Given the description of an element on the screen output the (x, y) to click on. 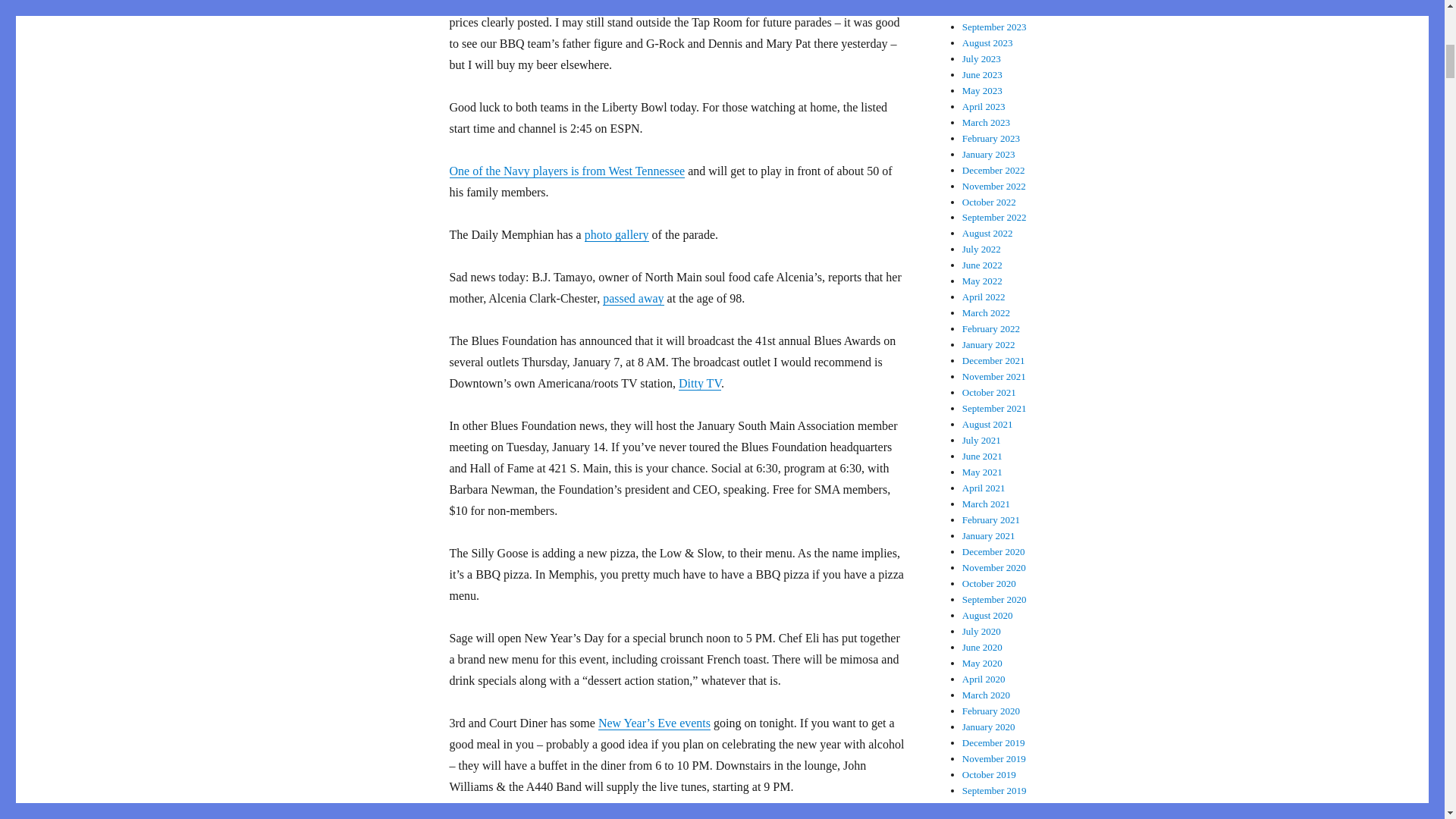
photo gallery (617, 234)
Ditty TV (699, 382)
passed away (632, 297)
One of the Navy players is from West Tennessee (566, 170)
